Given the description of an element on the screen output the (x, y) to click on. 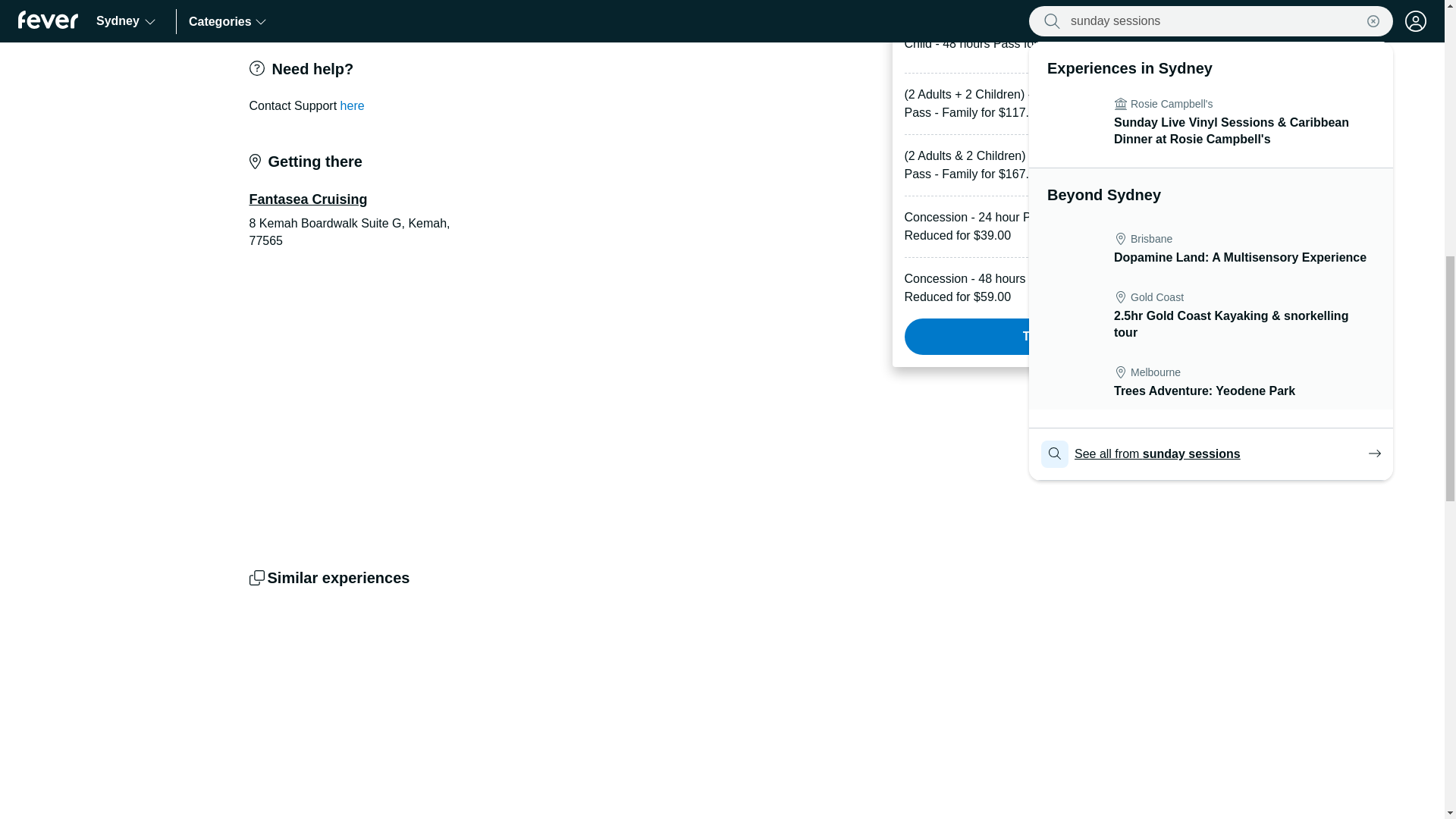
Small-Group Sydney City Walking Tour - Customs House (841, 712)
